Given the description of an element on the screen output the (x, y) to click on. 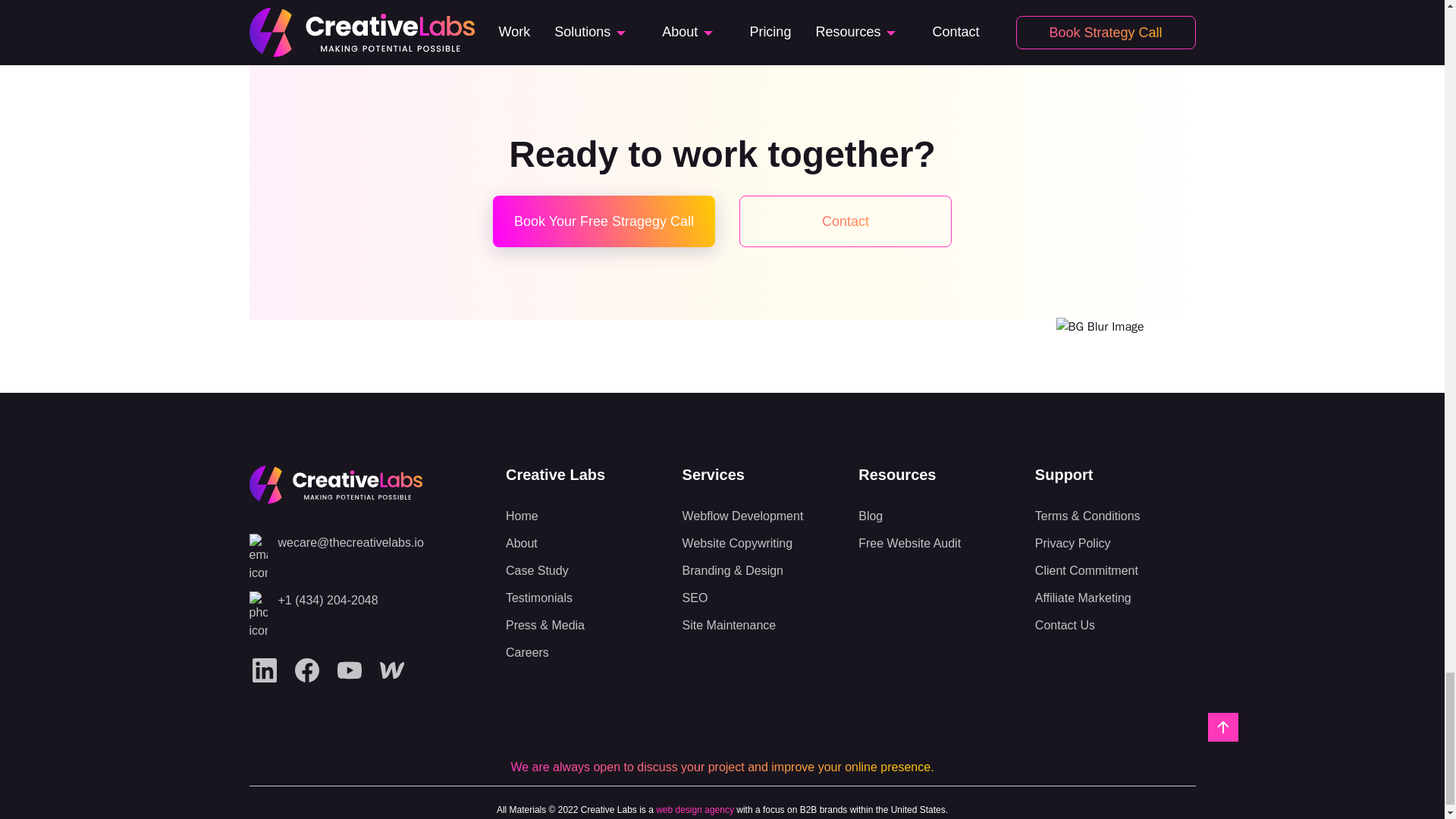
Case Study (585, 570)
Webflow Account Link (390, 670)
Testimonials (585, 597)
Connect on Linked In (263, 670)
Webflow Account Link (390, 670)
Webflow Development (762, 515)
Website Copywriting (762, 543)
Careers (585, 652)
Contact (845, 221)
Connect on Linked In (263, 670)
Connect on Facebook (306, 670)
Connect on Facebook (306, 670)
About (585, 543)
Book Your Free Stragegy Call (603, 221)
Home (585, 515)
